Given the description of an element on the screen output the (x, y) to click on. 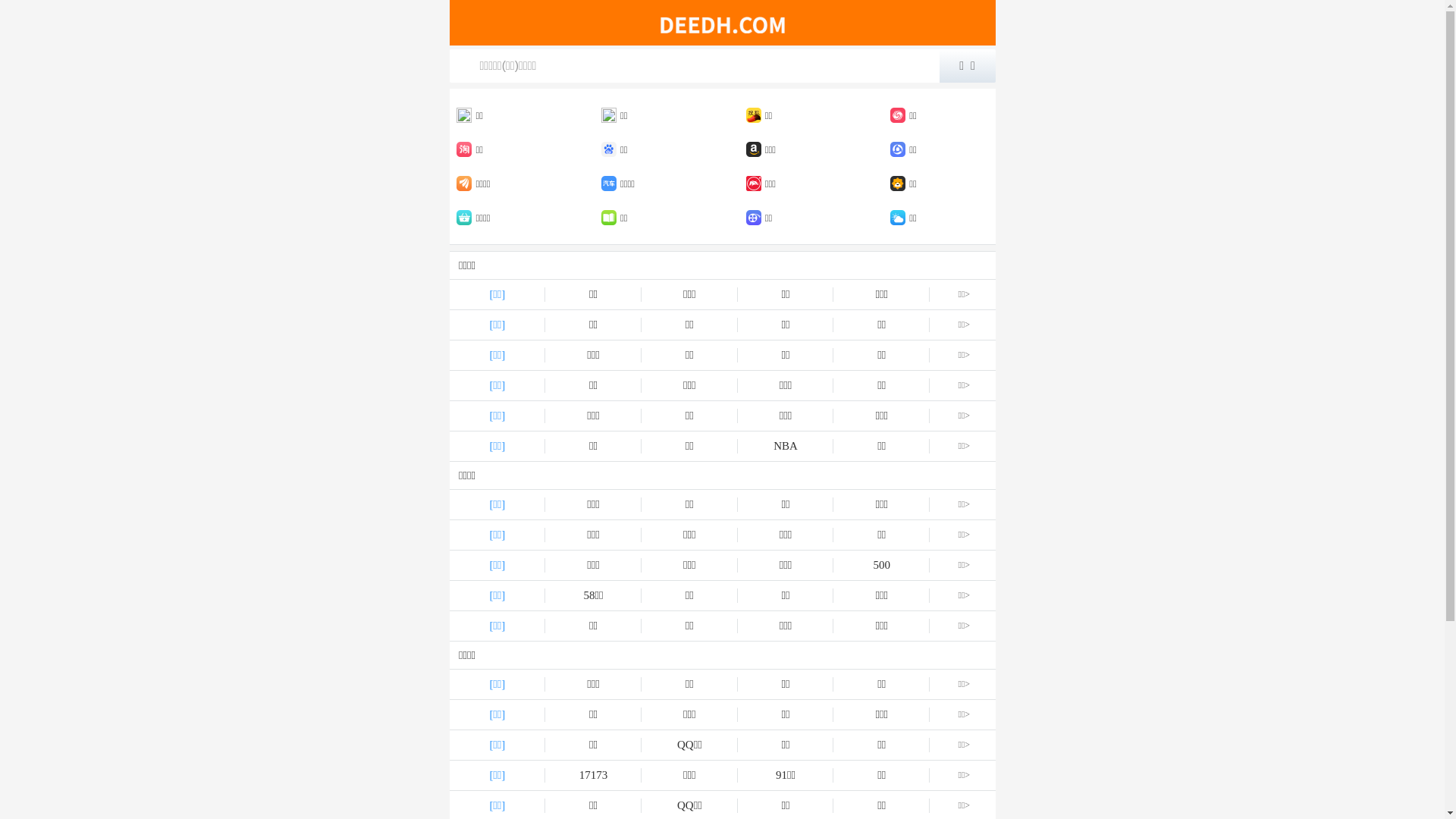
17173 Element type: text (593, 775)
NBA Element type: text (785, 446)
500 Element type: text (881, 565)
